Given the description of an element on the screen output the (x, y) to click on. 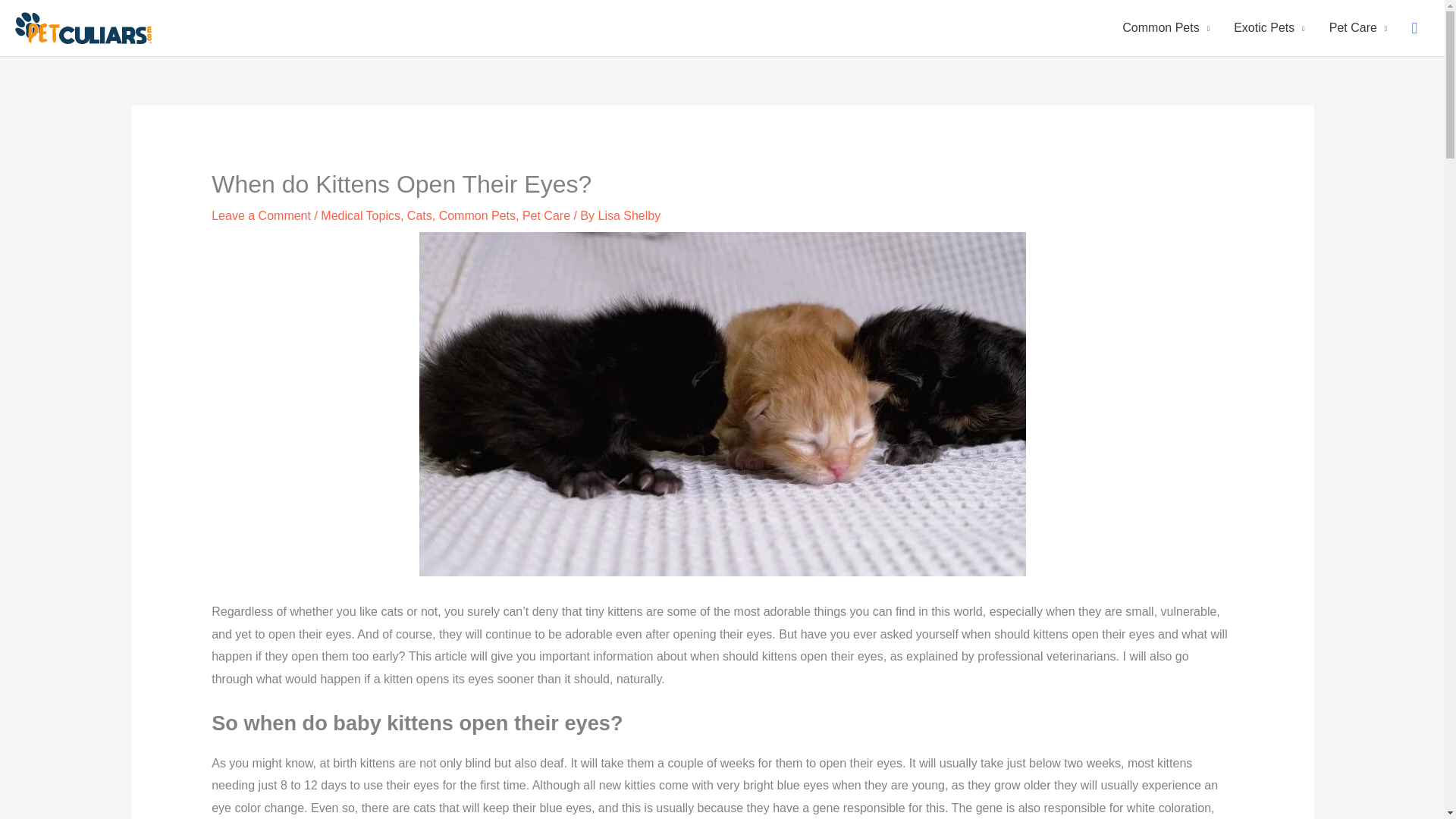
Leave a Comment (261, 215)
Lisa Shelby (628, 215)
Medical Topics (360, 215)
Pet Care (546, 215)
Common Pets (1165, 28)
Common Pets (477, 215)
Search (1413, 28)
Pet Care (1358, 28)
Cats (419, 215)
Exotic Pets (1269, 28)
View all posts by Lisa Shelby (628, 215)
